Given the description of an element on the screen output the (x, y) to click on. 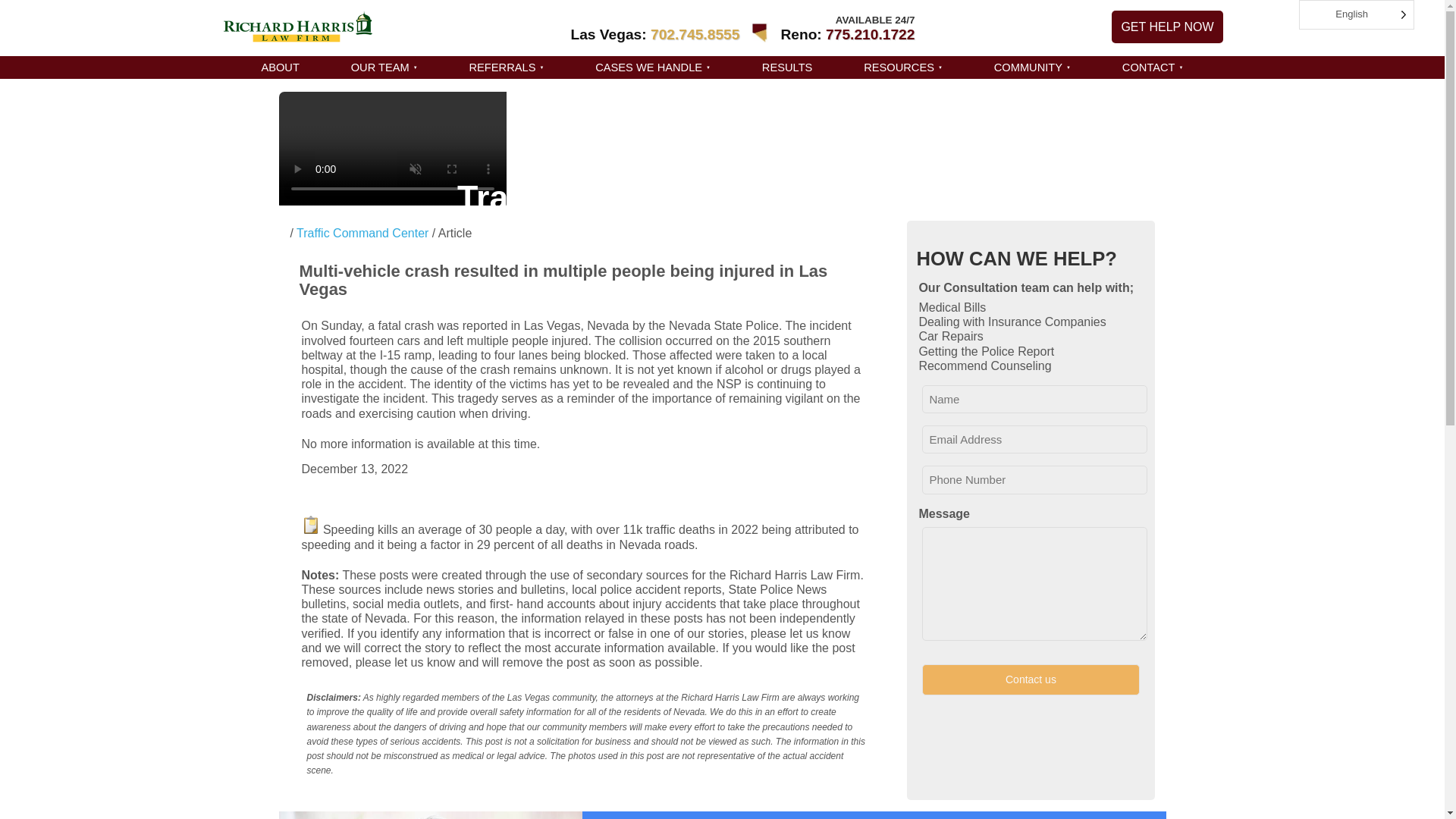
RESULTS (786, 67)
REFERRALS (505, 67)
775.210.1722 (869, 34)
ABOUT (279, 67)
CASES WE HANDLE (652, 67)
GET HELP NOW (1167, 26)
COMMUNITY (1032, 67)
702.745.8555 (694, 34)
RESOURCES (902, 67)
Contact us (1029, 679)
GET HELP NOW (1167, 26)
OUR TEAM (383, 67)
